Given the description of an element on the screen output the (x, y) to click on. 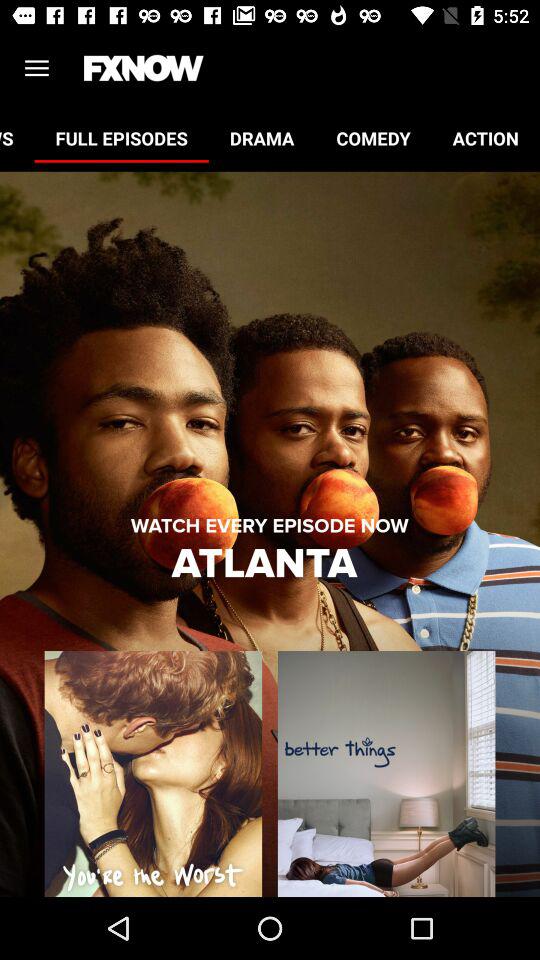
select item to the left of drama icon (121, 138)
